Given the description of an element on the screen output the (x, y) to click on. 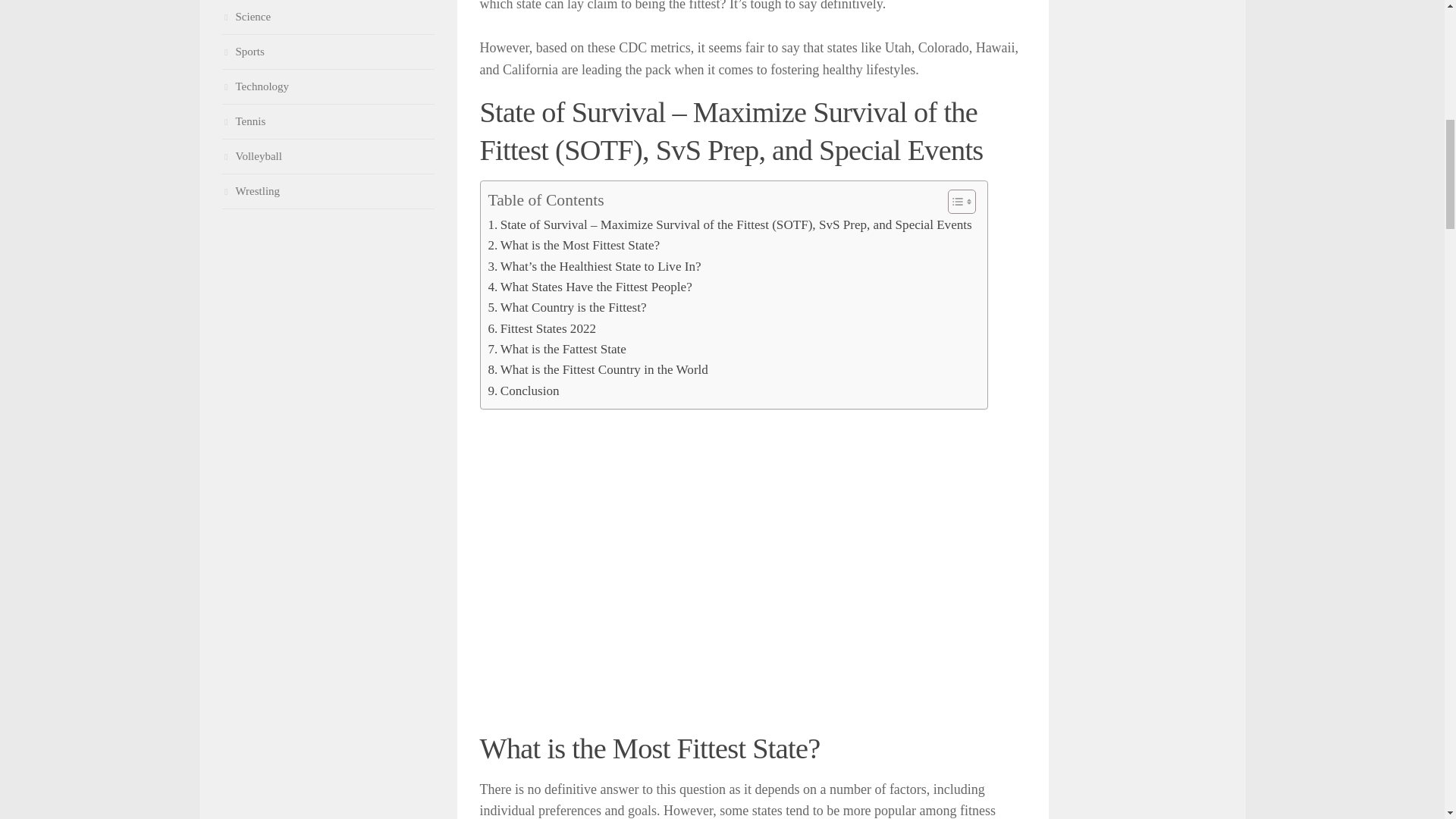
What is the Fittest Country in the World  (597, 369)
What States Have the Fittest People?  (590, 286)
What is the Most Fittest State?  (574, 245)
What is the Most Fittest State? (574, 245)
Fittest States 2022  (541, 328)
What Country is the Fittest?  (566, 307)
What is the Fattest State  (556, 349)
Conclusion  (523, 390)
